Given the description of an element on the screen output the (x, y) to click on. 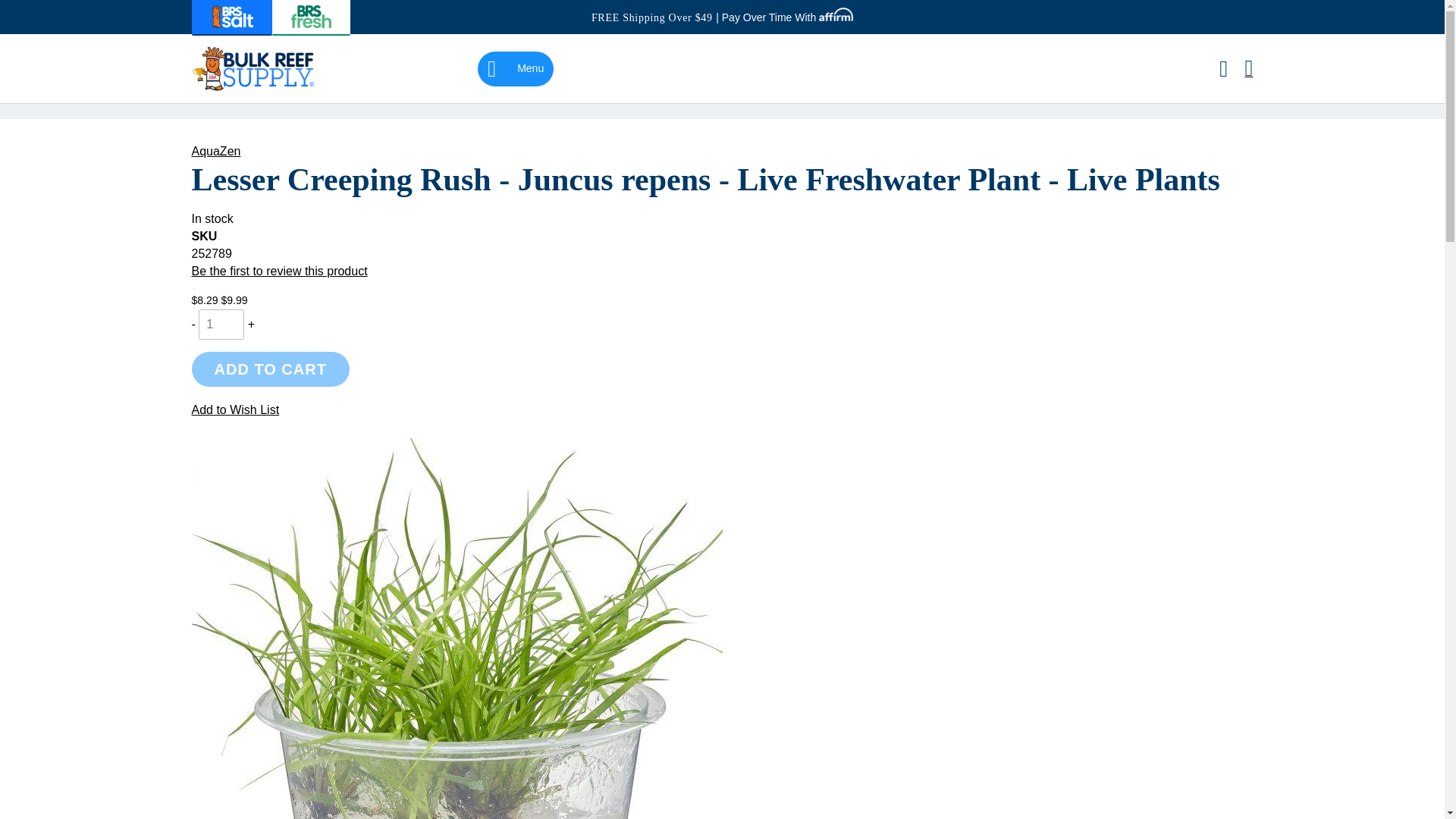
ADD TO CART (269, 369)
Add to Cart (269, 369)
1 (221, 324)
Bulk Reef Supply (255, 67)
AquaZen (215, 151)
Qty (221, 324)
Be the first to review this product (278, 270)
Add to Wish List (234, 409)
